Given the description of an element on the screen output the (x, y) to click on. 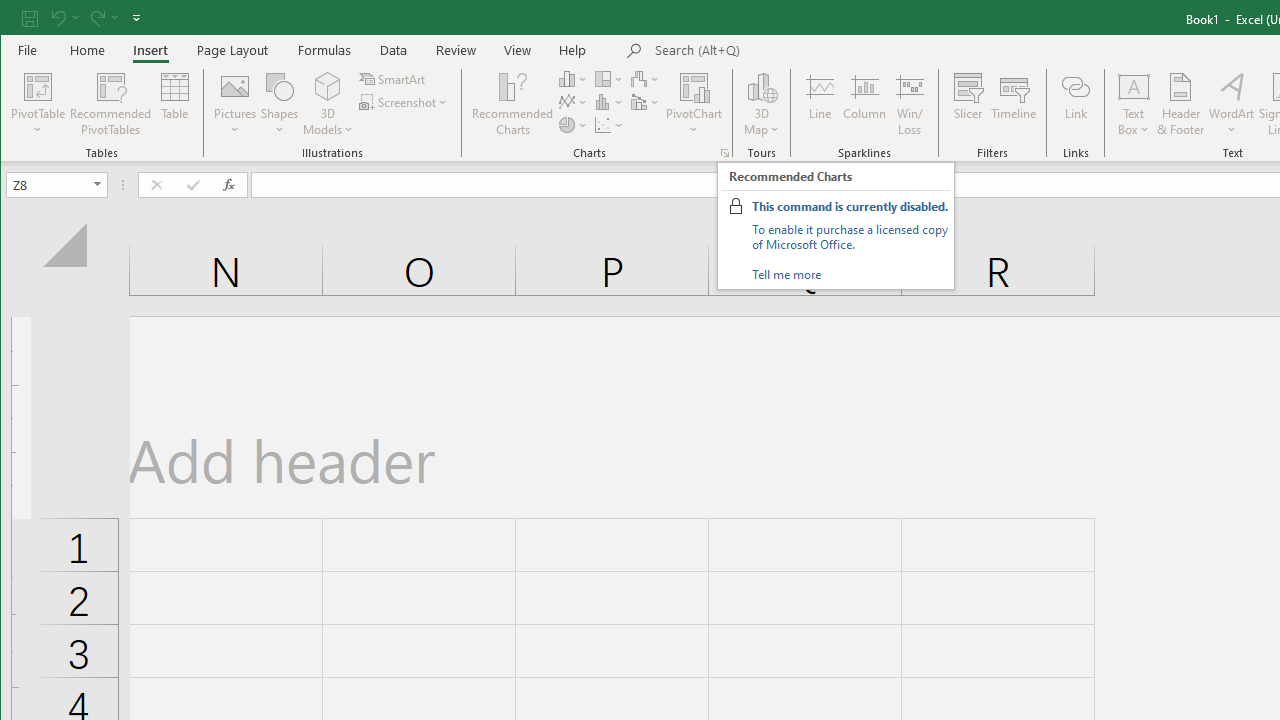
WordArt (1231, 104)
Recommended Charts (724, 152)
Insert Hierarchy Chart (609, 78)
Text Box (1133, 104)
SmartArt... (393, 78)
This command is currently disabled. (849, 206)
Screenshot (404, 101)
PivotTable (37, 86)
